Given the description of an element on the screen output the (x, y) to click on. 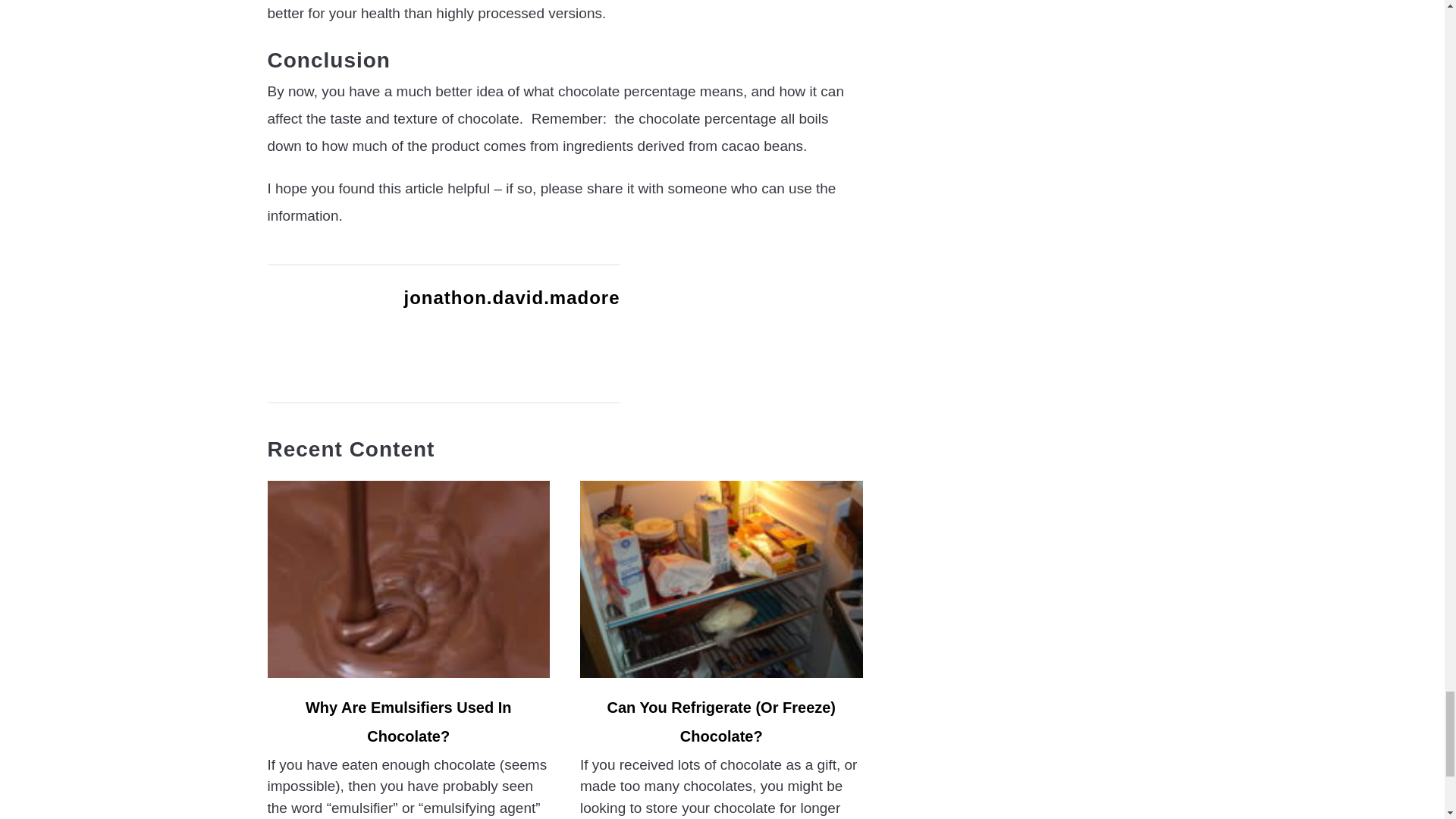
link to Why Are Emulsifiers Used In Chocolate? (408, 579)
Why Are Emulsifiers Used In Chocolate? (408, 721)
jonathon.david.madore (511, 297)
